Given the description of an element on the screen output the (x, y) to click on. 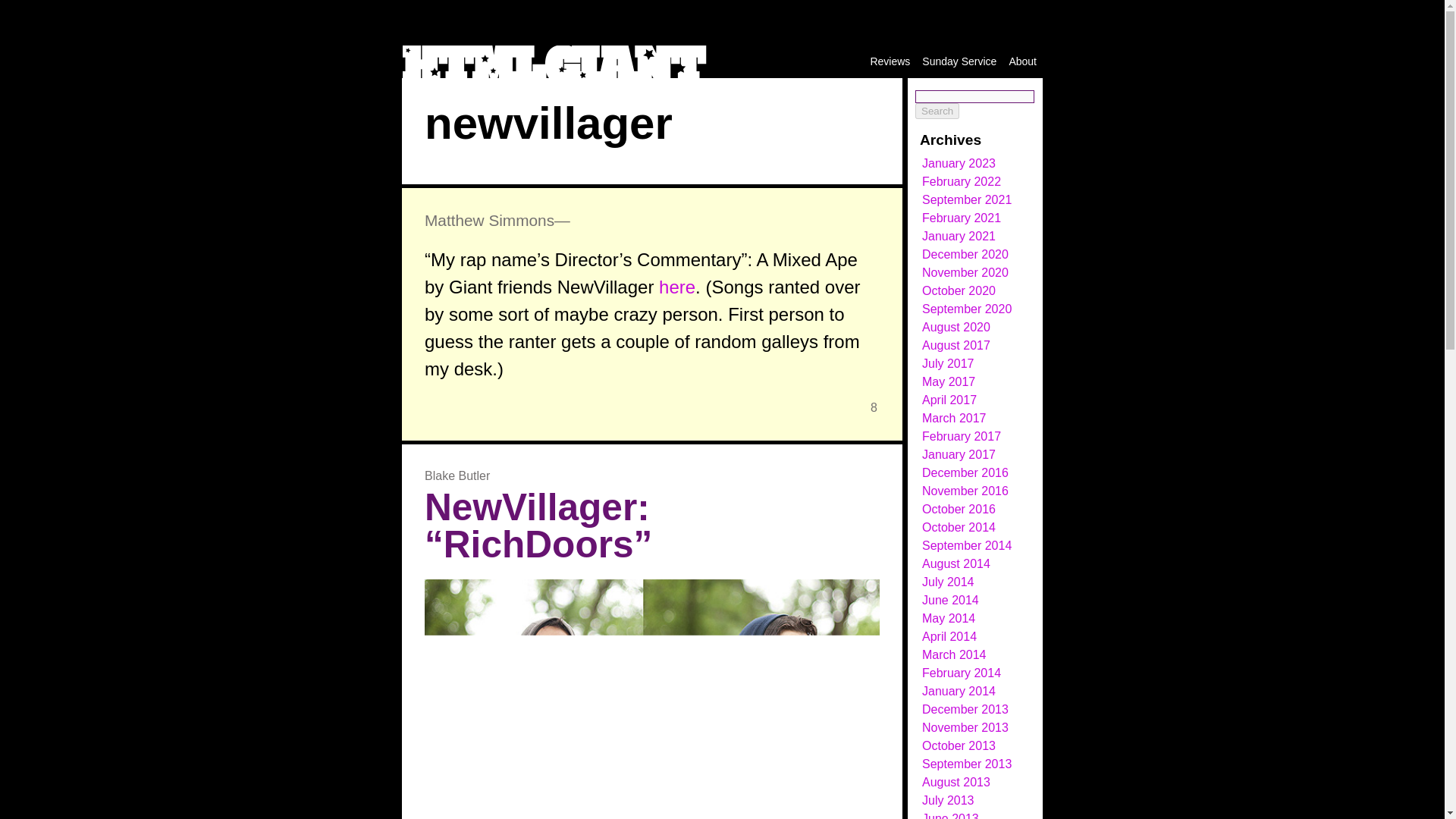
April 2017 (948, 399)
August 2017 (955, 345)
About (1022, 61)
Reviews (889, 61)
May 2017 (948, 381)
Posts by Matthew Simmons (489, 220)
September 2020 (966, 308)
December 2016 (965, 472)
February 2021 (961, 217)
July 2017 (947, 363)
